Given the description of an element on the screen output the (x, y) to click on. 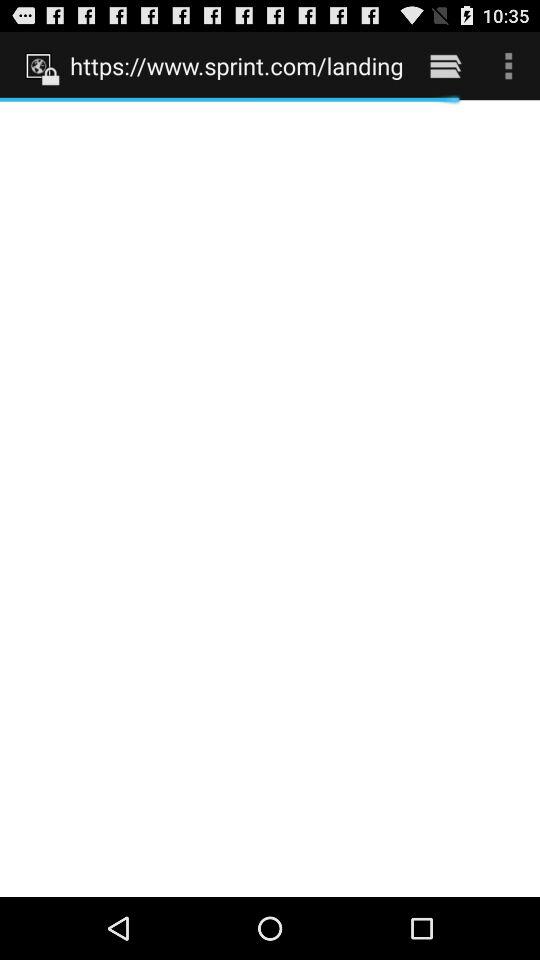
swipe to https www sprint item (235, 65)
